Given the description of an element on the screen output the (x, y) to click on. 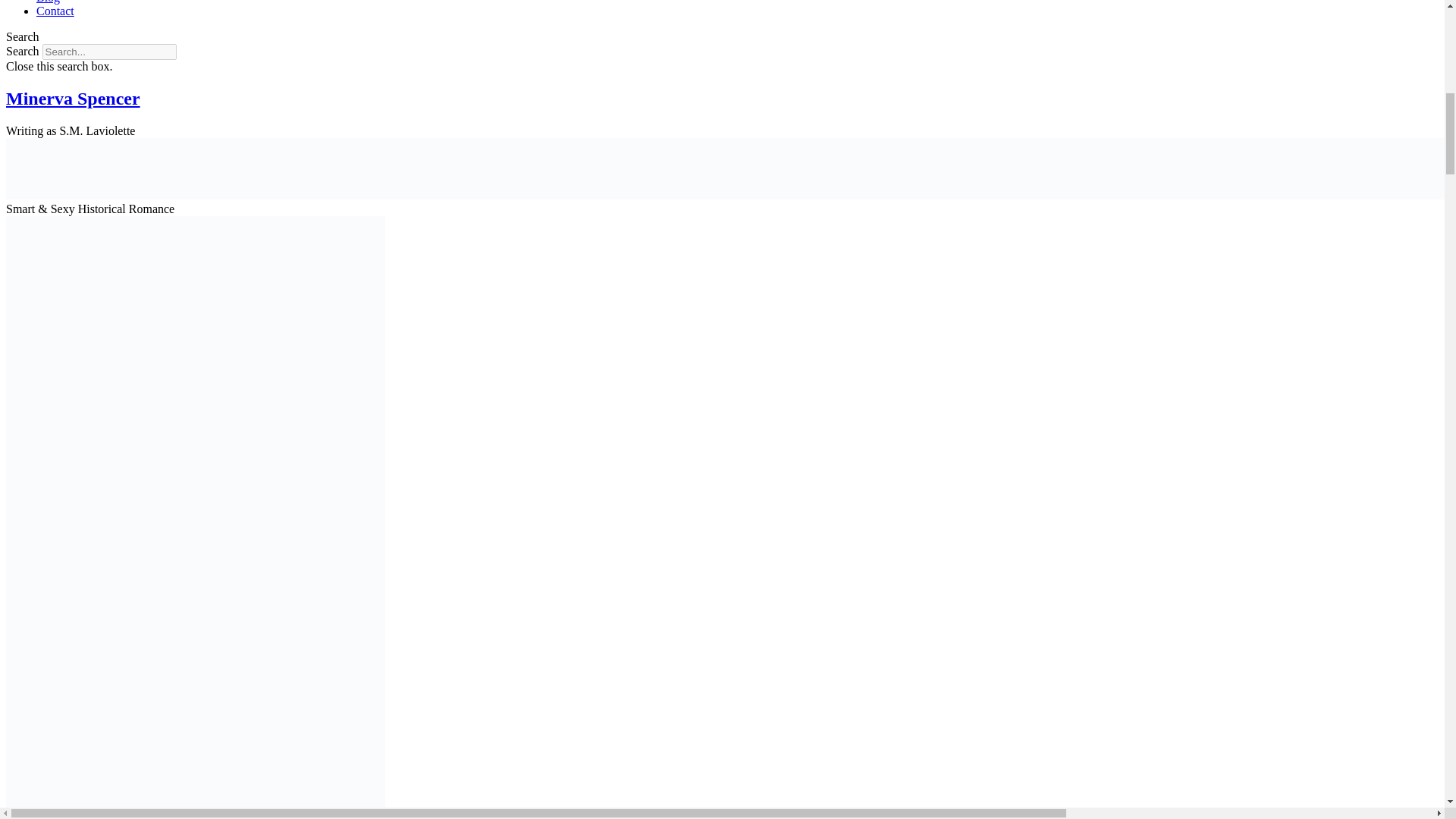
Blog (47, 2)
Minerva Spencer (72, 98)
Contact (55, 10)
